Given the description of an element on the screen output the (x, y) to click on. 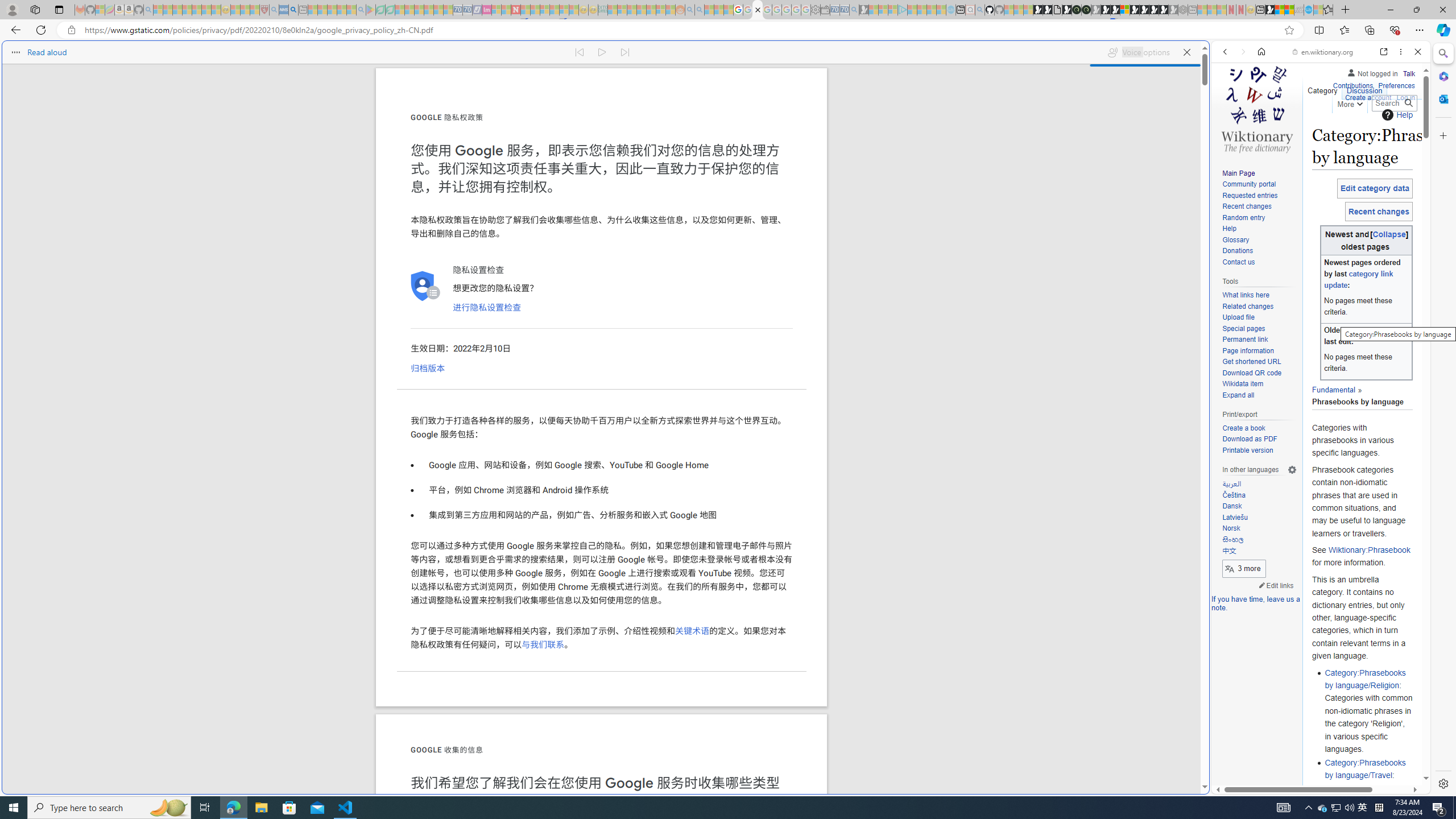
Create account (1367, 96)
Donations (1259, 251)
Wiktionary:Phrasebook (1368, 550)
Download QR code (1251, 372)
utah sues federal government - Search (922, 389)
Category:Phrasebooks by language/Travel (1365, 768)
Glossary (1259, 240)
